Given the description of an element on the screen output the (x, y) to click on. 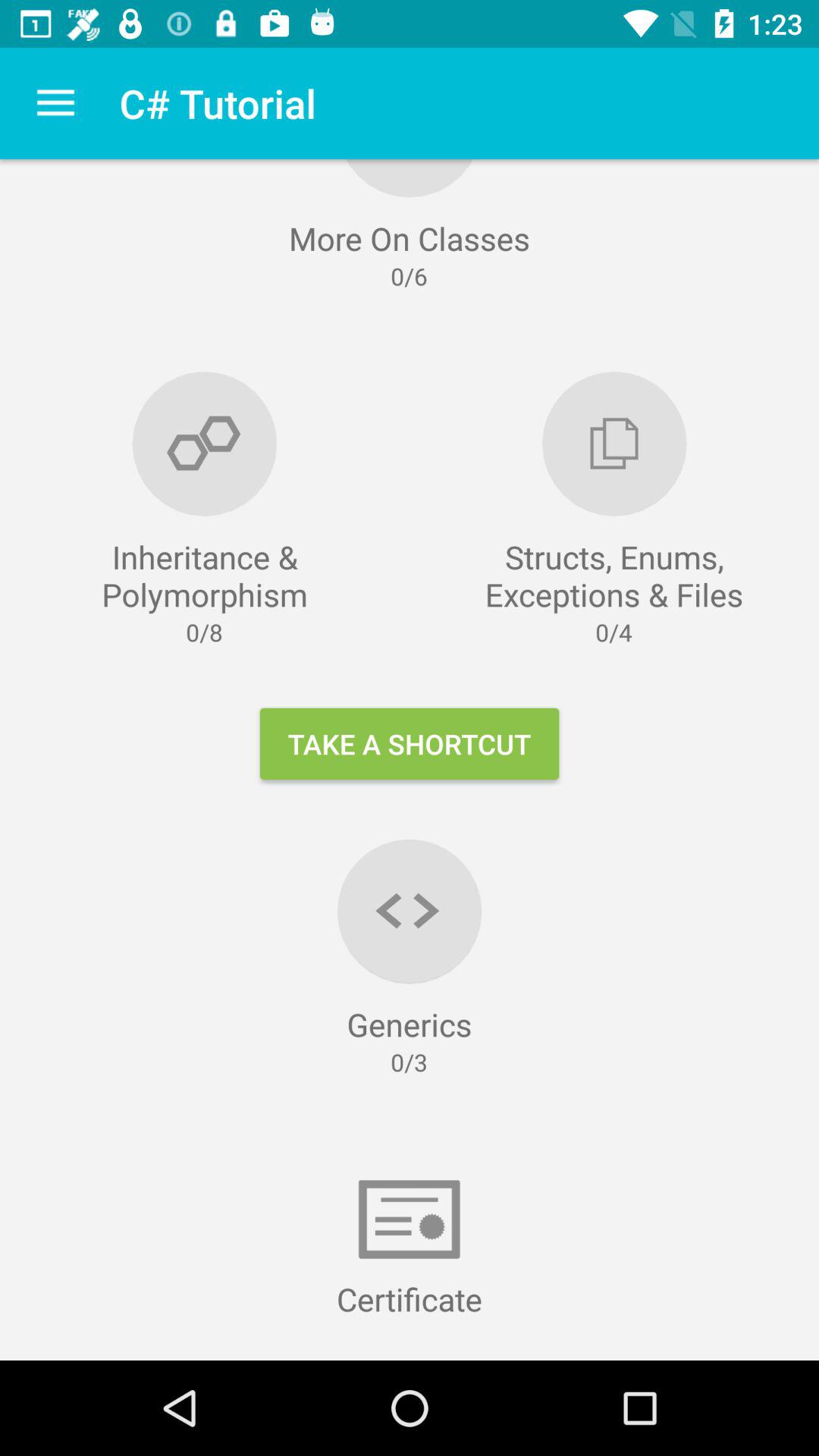
flip to the take a shortcut icon (409, 743)
